Given the description of an element on the screen output the (x, y) to click on. 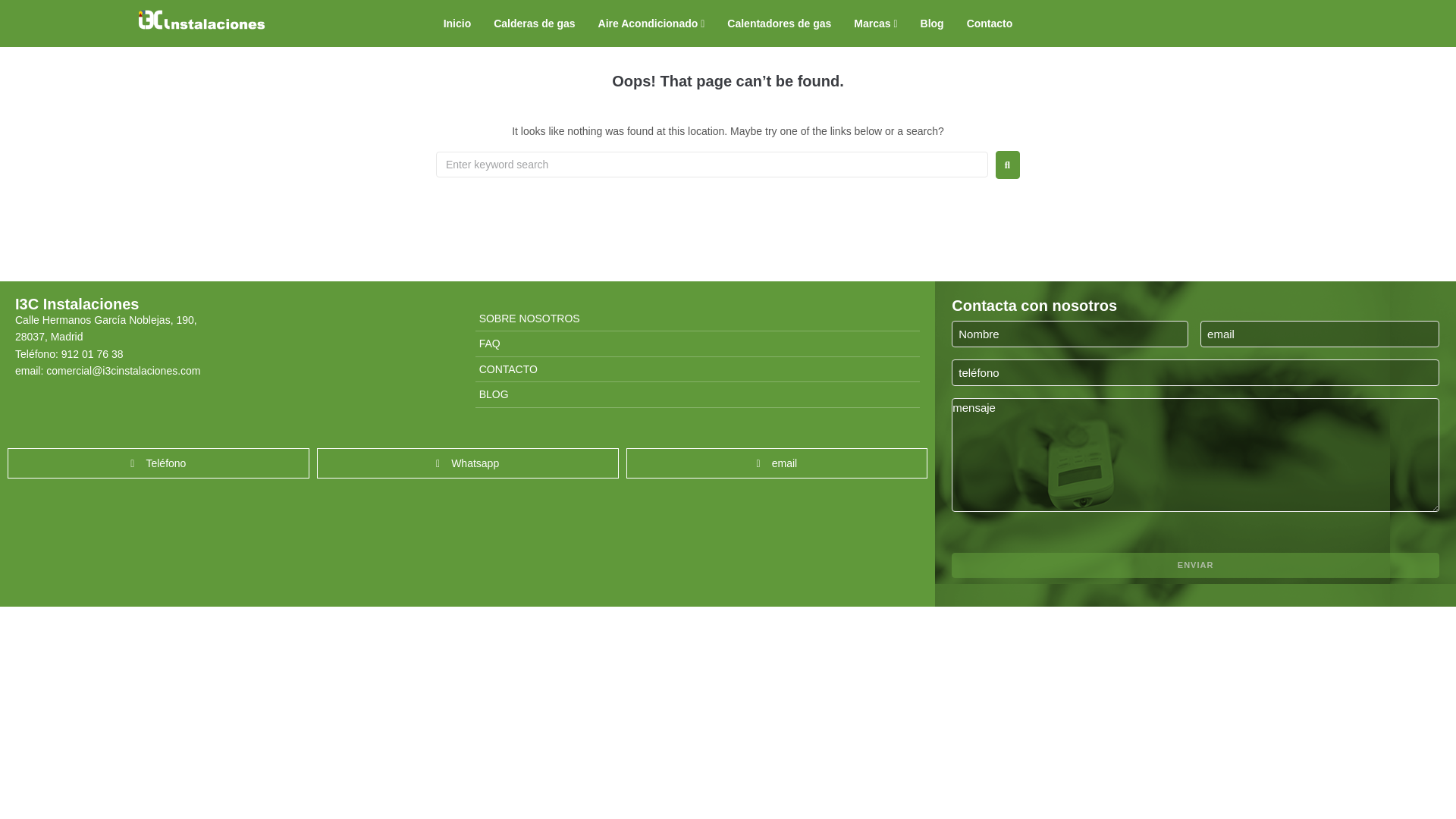
Enviar (1195, 565)
Blog (932, 23)
Inicio (457, 23)
Calderas de gas (534, 23)
Aire Acondicionado (652, 23)
Contacto (989, 23)
Marcas (874, 23)
Calentadores de gas (778, 23)
